Given the description of an element on the screen output the (x, y) to click on. 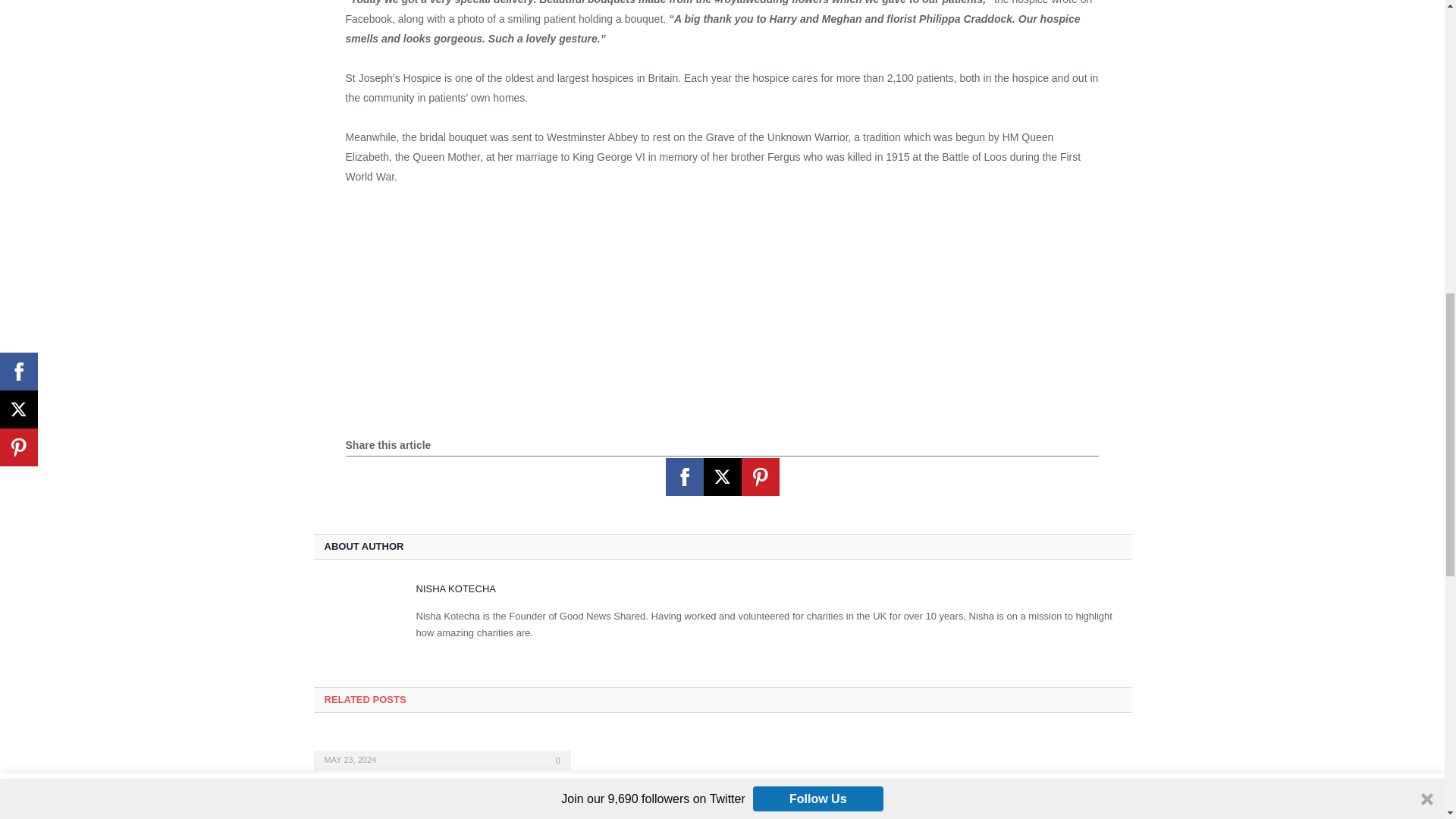
Posts by Nisha Kotecha (454, 588)
X (722, 476)
Facebook (684, 476)
Pinterest (759, 476)
